Given the description of an element on the screen output the (x, y) to click on. 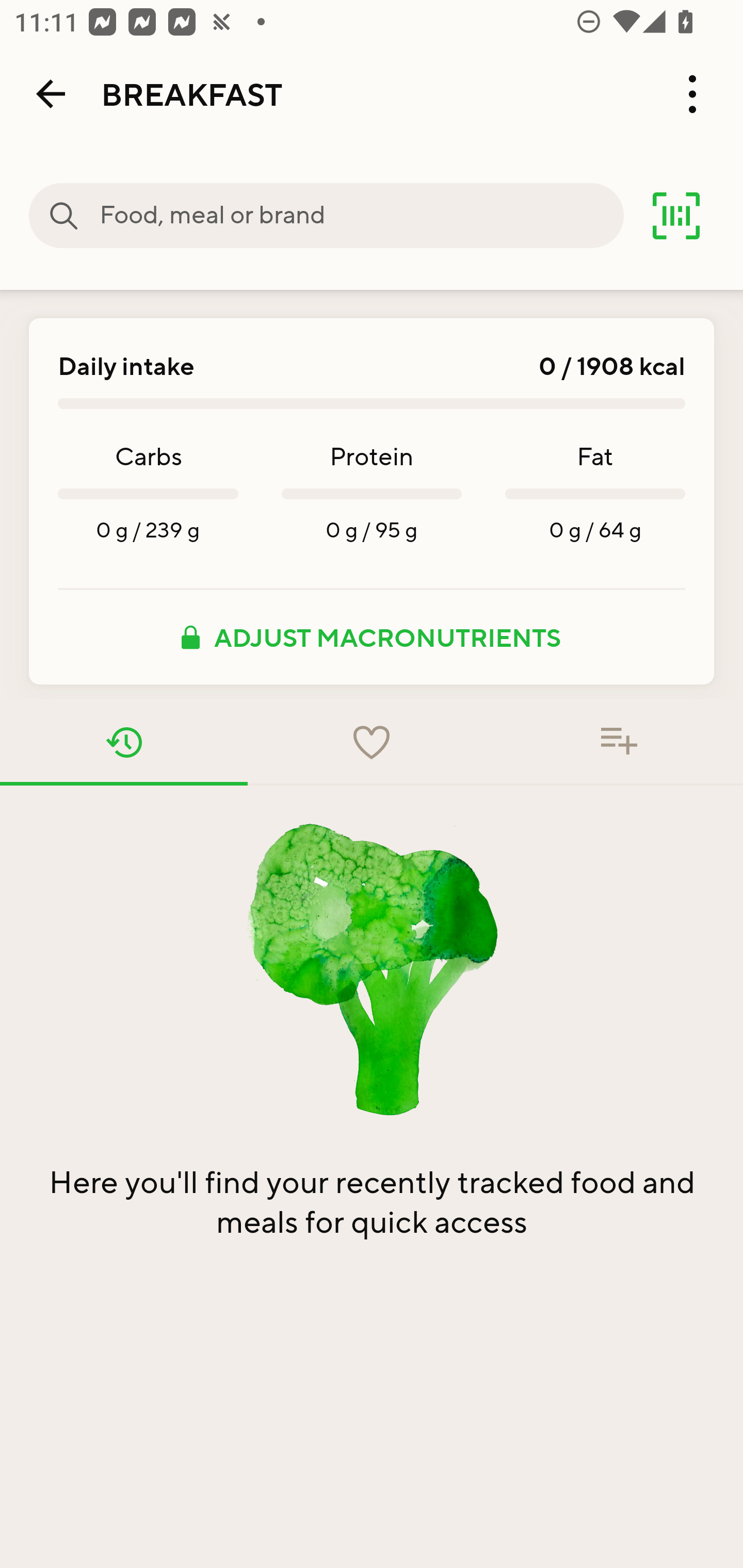
Back (50, 93)
Food, meal or brand (63, 215)
Food, meal or brand (361, 215)
ADJUST MACRONUTRIENTS (371, 637)
Favorites (371, 742)
Food added (619, 742)
